Given the description of an element on the screen output the (x, y) to click on. 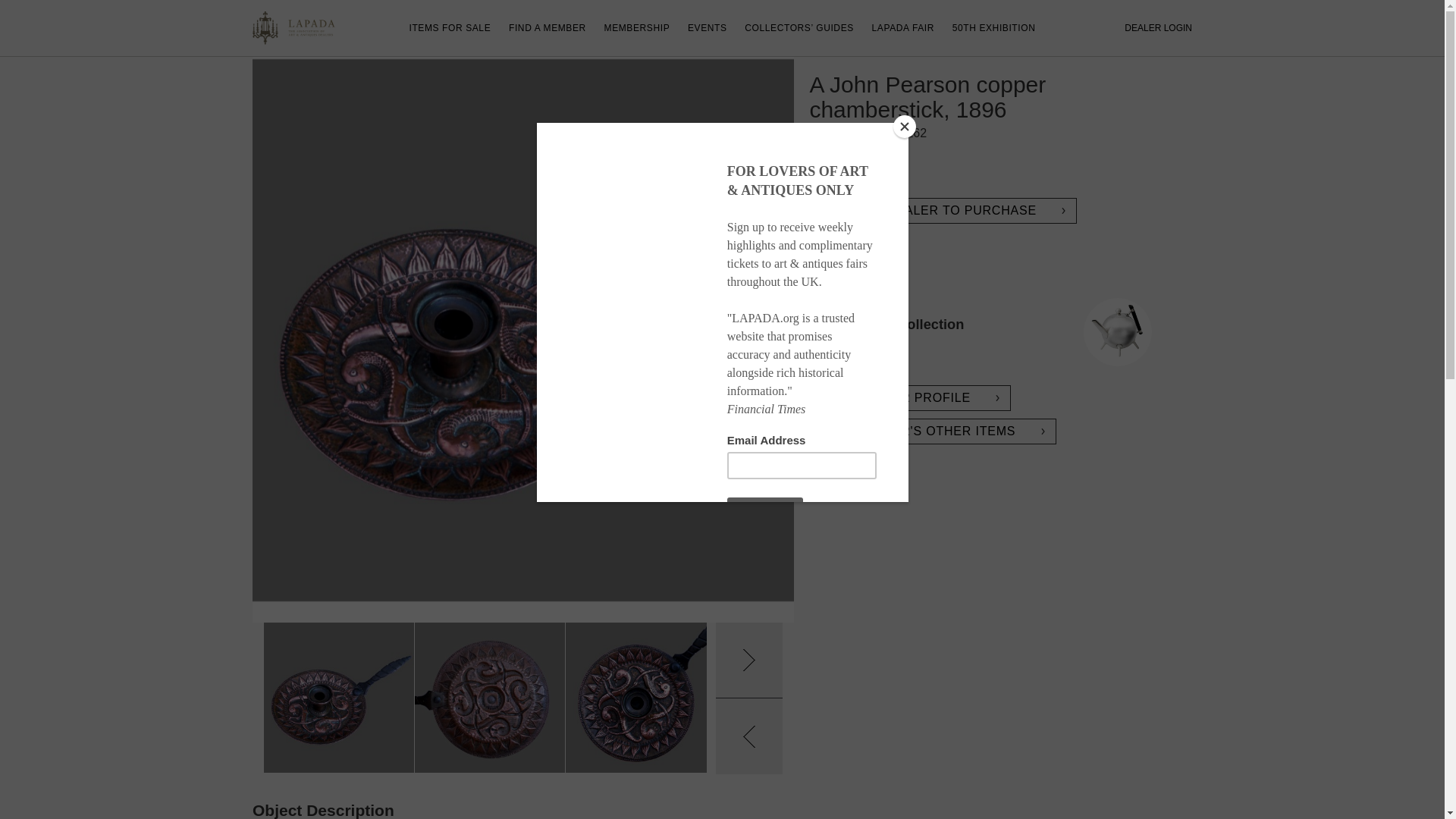
LAPADA FAIR (903, 27)
MEMBERSHIP (636, 27)
ITEMS FOR SALE (450, 27)
DEALER LOGIN (523, 697)
EVENTS (1158, 27)
FIND A MEMBER (706, 27)
50TH EXHIBITION (547, 27)
